Given the description of an element on the screen output the (x, y) to click on. 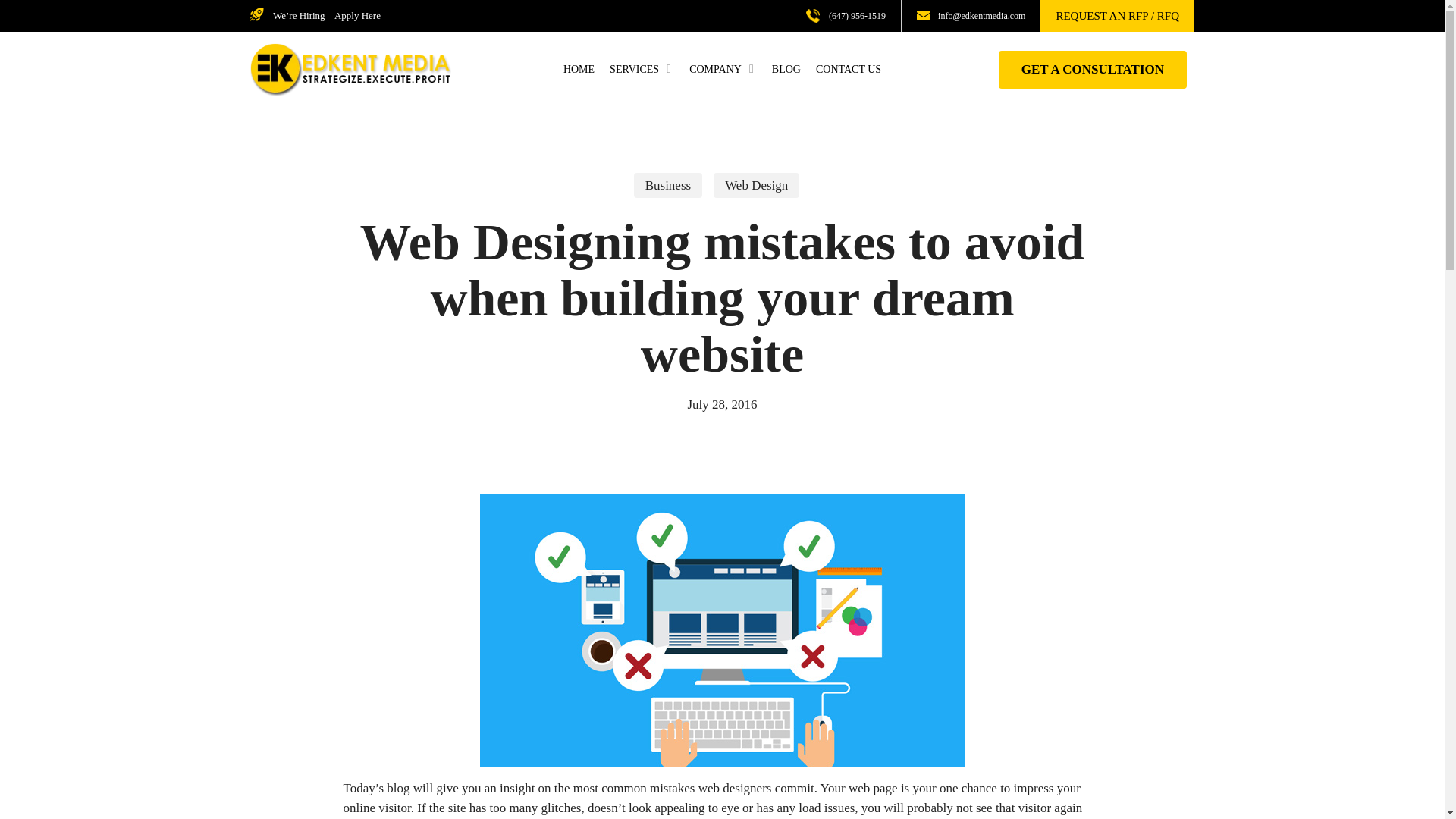
HOME (579, 69)
COMPANY (722, 69)
SERVICES (641, 69)
